Given the description of an element on the screen output the (x, y) to click on. 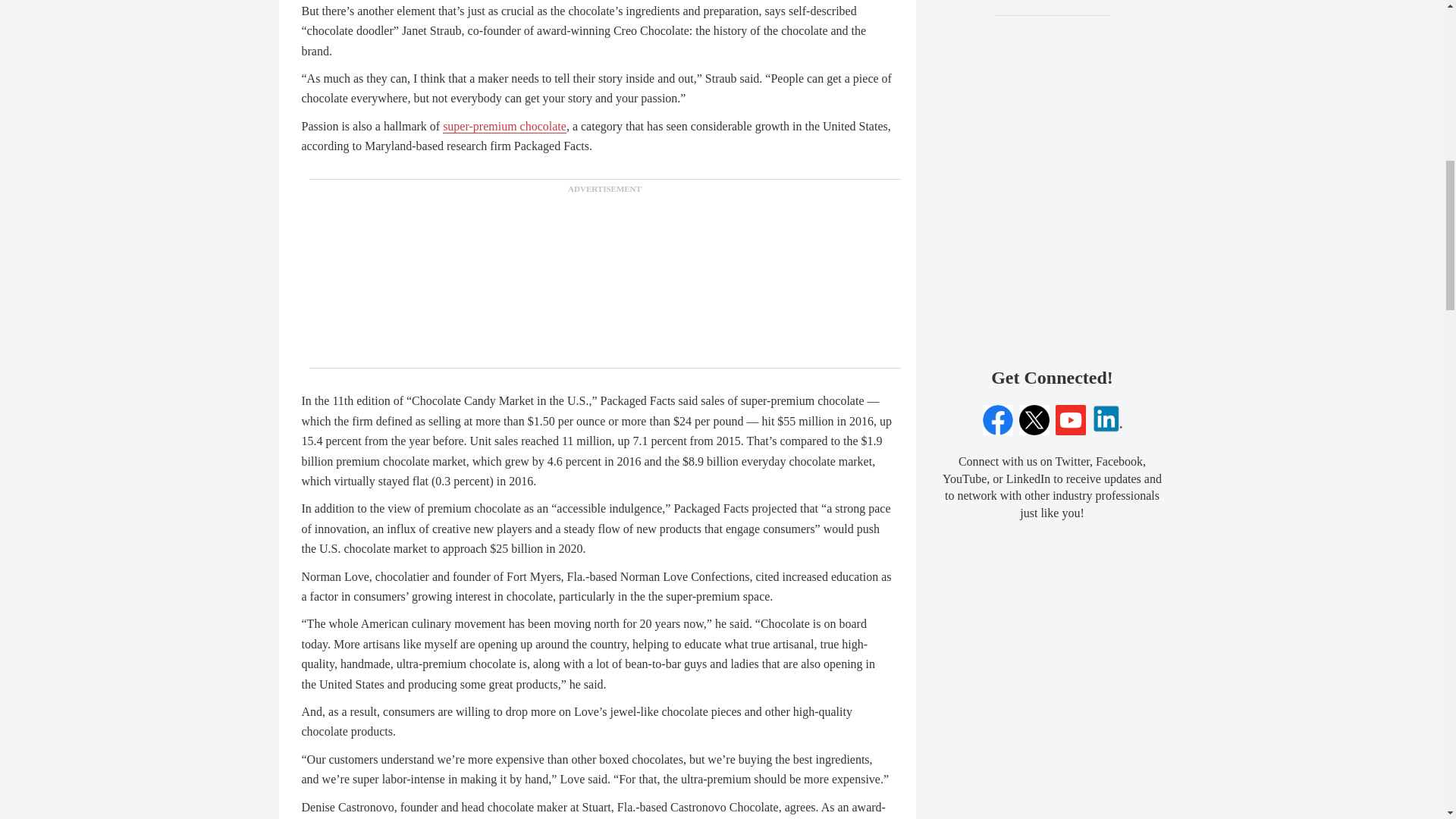
Interaction questions (1052, 276)
